Given the description of an element on the screen output the (x, y) to click on. 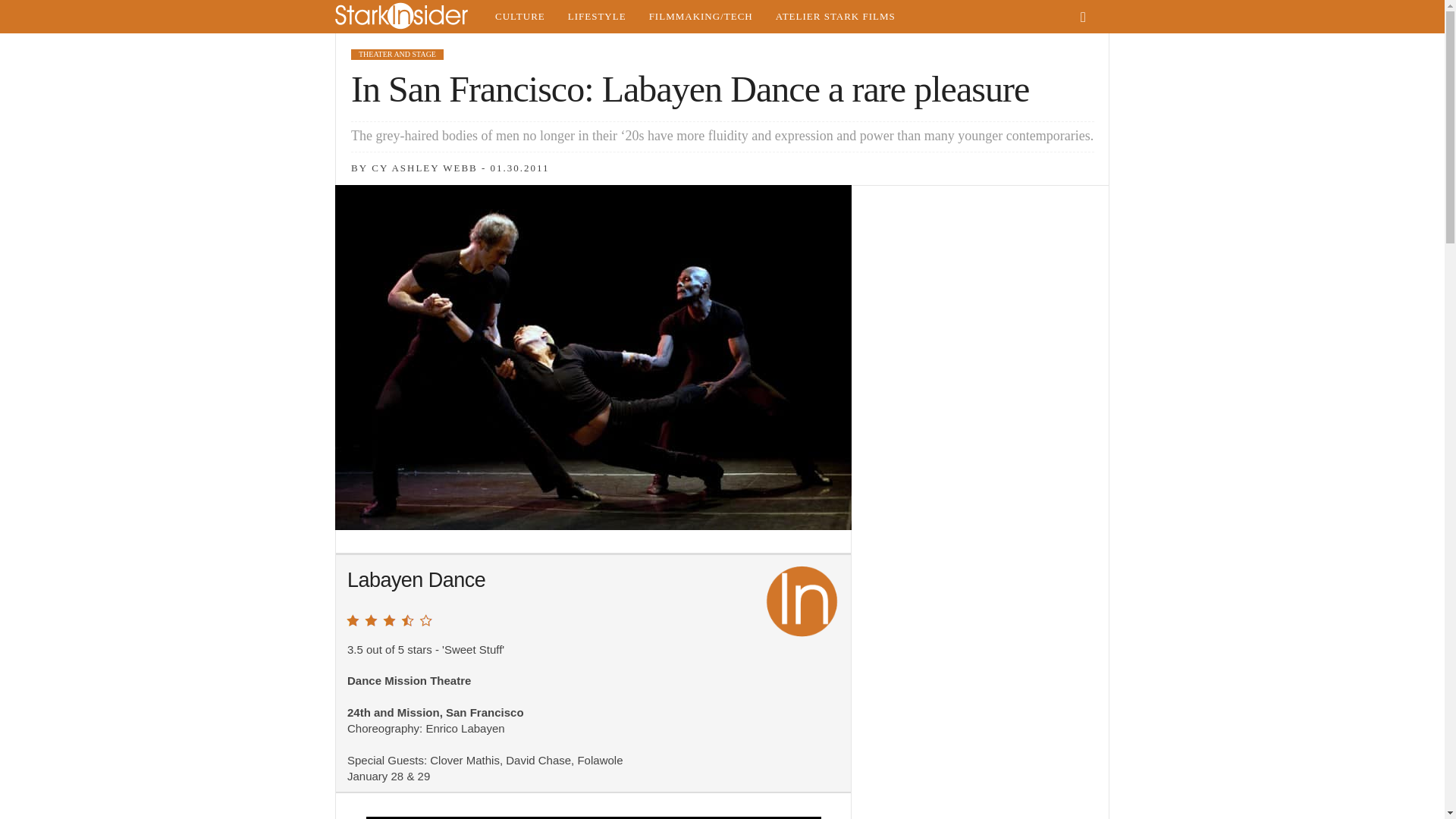
ATELIER STARK FILMS (835, 16)
CY ASHLEY WEBB (424, 167)
LIFESTYLE (596, 16)
Stark Insider (408, 16)
THEATER AND STAGE (397, 54)
In Review (802, 600)
Tech, gadgets, camera news and reviews from Silicon Valley (700, 16)
CULTURE (519, 16)
